Given the description of an element on the screen output the (x, y) to click on. 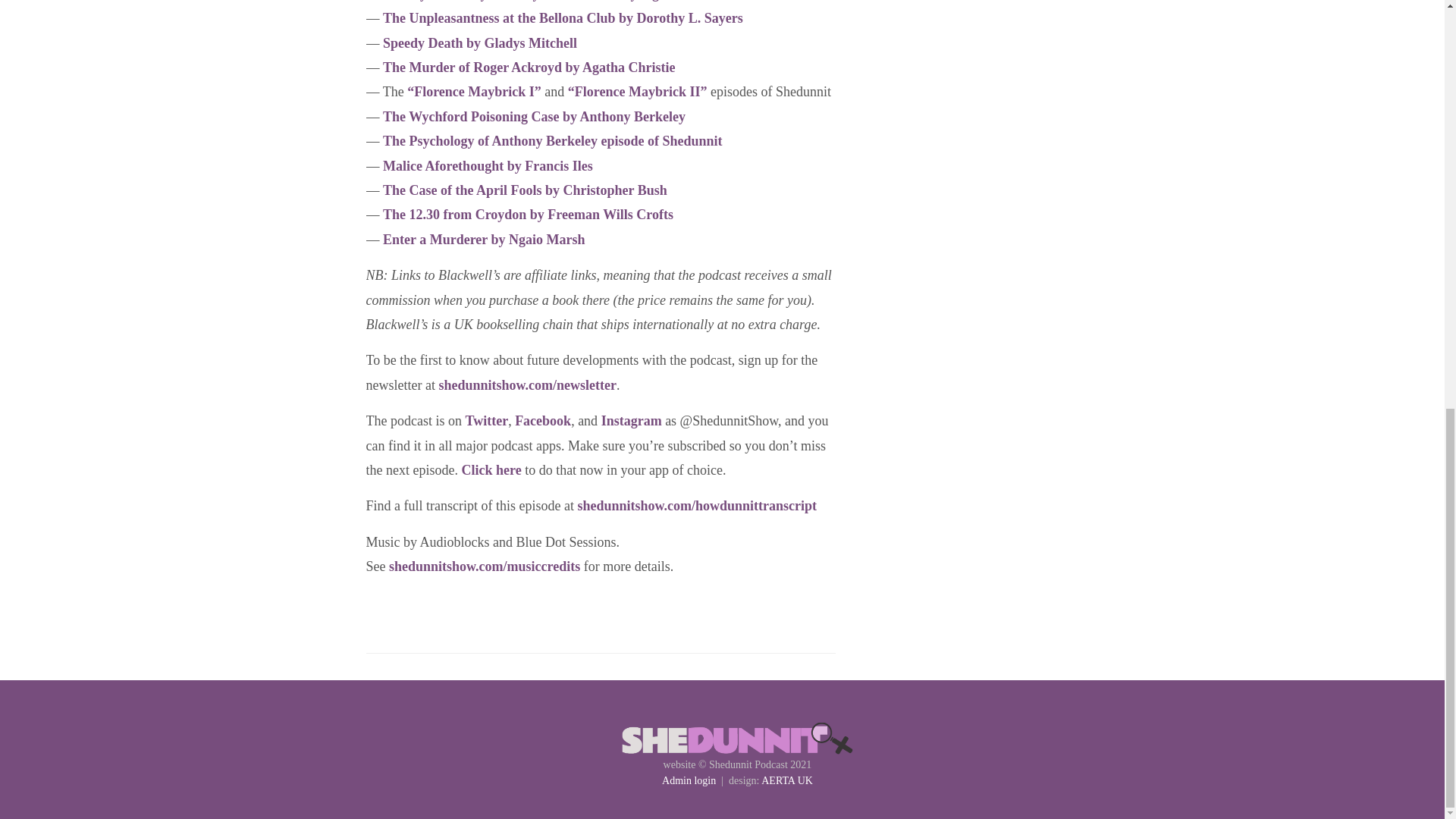
The Wychford Poisoning Case by Anthony Berkeley (533, 116)
Facebook (542, 420)
The Murder of Roger Ackroyd by Agatha Christie (528, 67)
The 12.30 from Croydon by Freeman Wills Crofts (527, 214)
Click here (491, 469)
The Case of the April Fools by Christopher Bush (524, 190)
Enter a Murderer by Ngaio Marsh (483, 239)
Instagram (631, 420)
Malice Aforethought by Francis Iles (487, 165)
The Psychology of Anthony Berkeley episode of Shedunnit (552, 140)
The Unpleasantness at the Bellona Club by Dorothy L. Sayers (562, 17)
Twitter (486, 420)
Speedy Death by Gladys Mitchell (479, 43)
